Given the description of an element on the screen output the (x, y) to click on. 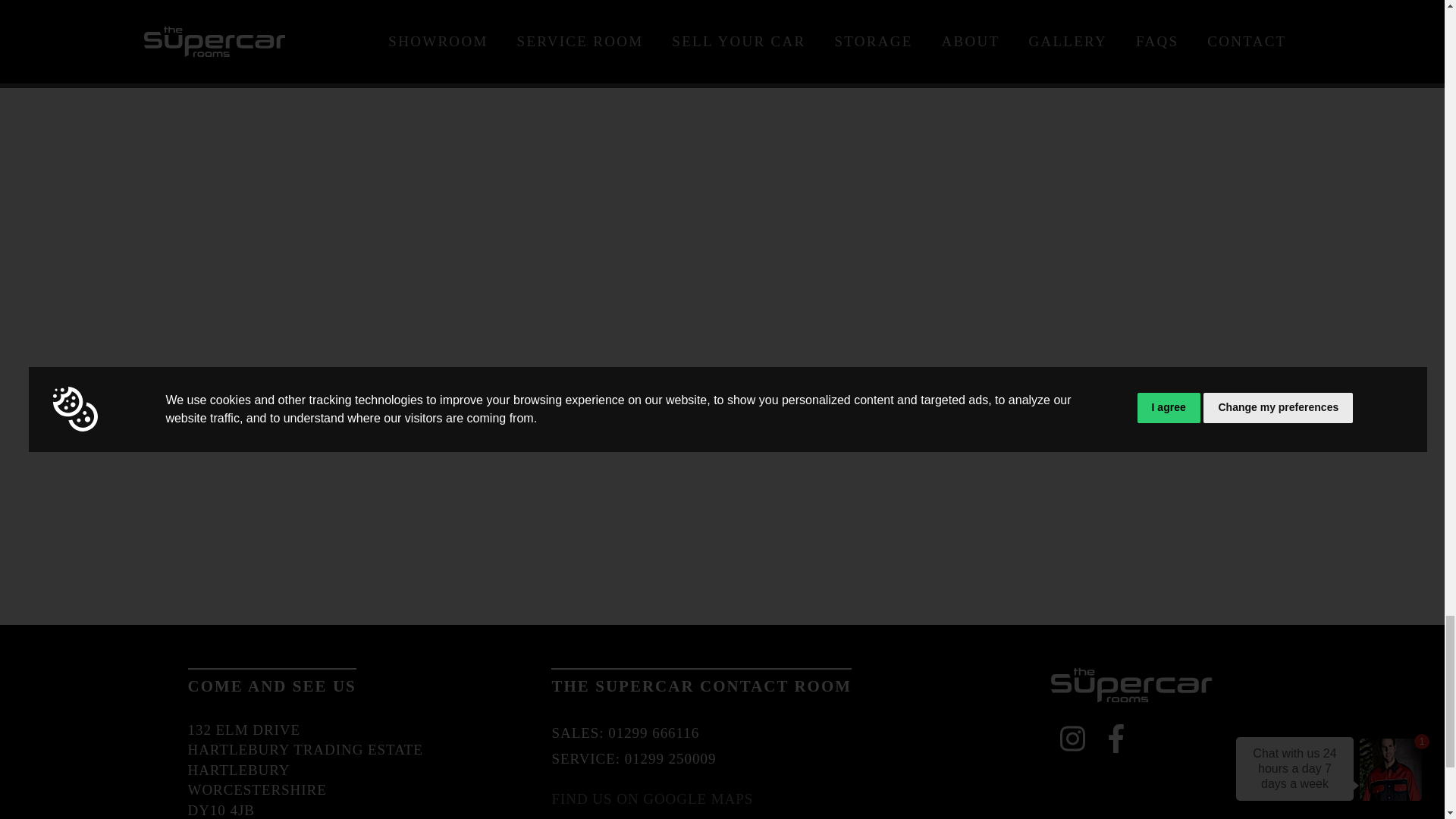
The Supercar Rooms (1131, 685)
